Given the description of an element on the screen output the (x, y) to click on. 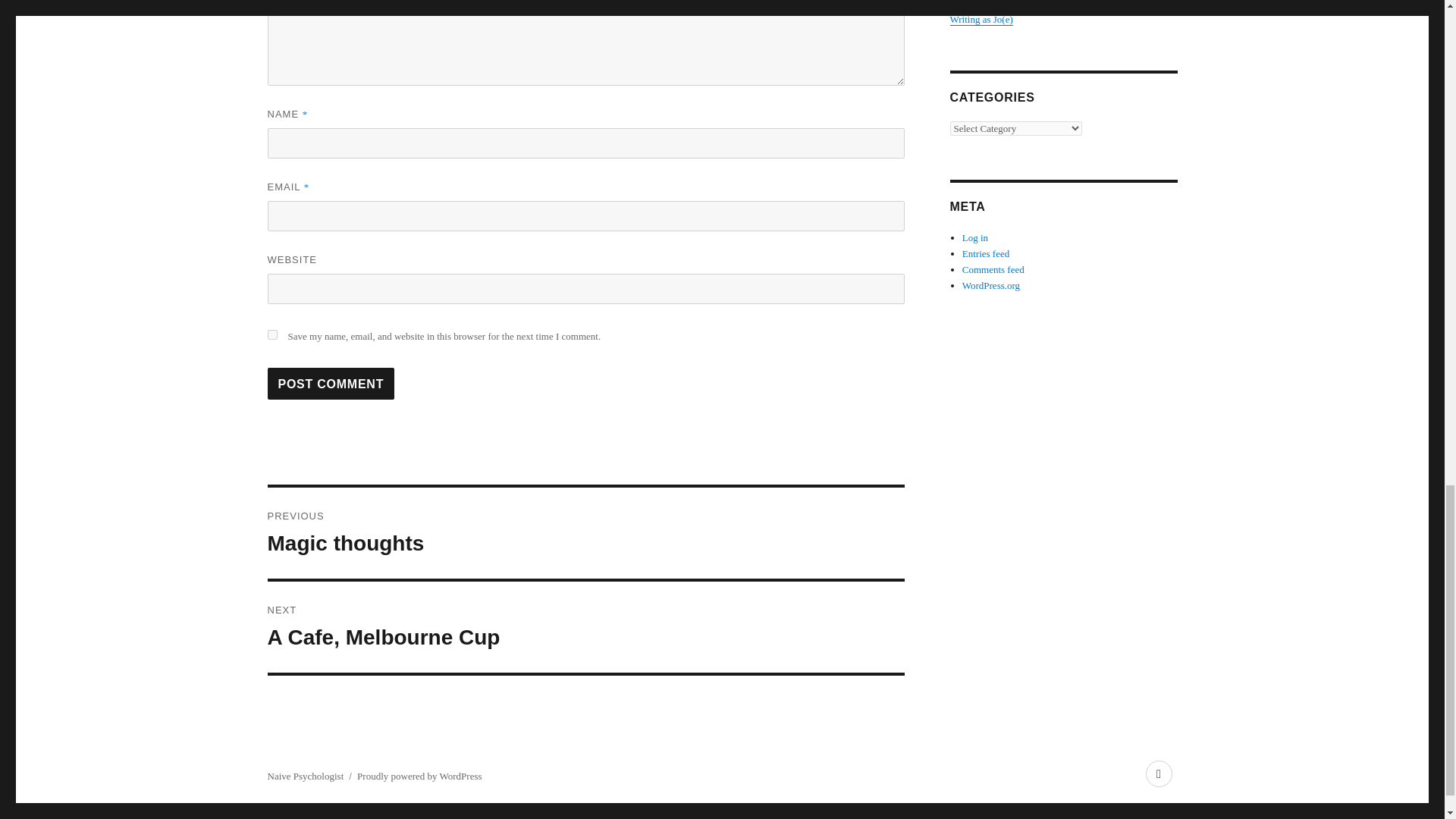
Log in (975, 237)
Comments feed (993, 269)
Entries feed (985, 253)
About (1158, 773)
Post Comment (585, 626)
yes (330, 383)
WordPress.org (271, 334)
Post Comment (585, 532)
